Given the description of an element on the screen output the (x, y) to click on. 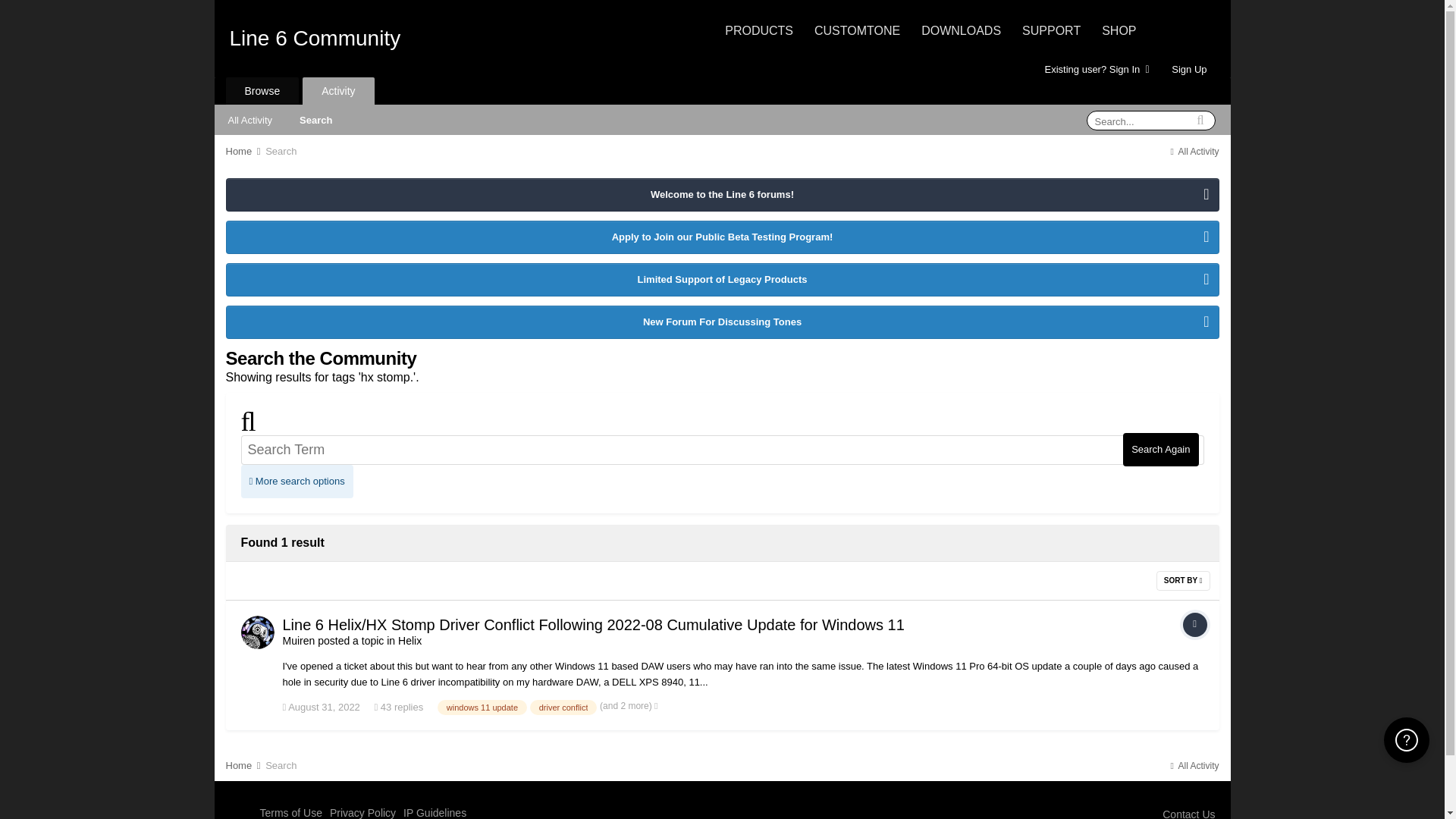
Go to Muiren's profile (258, 632)
PRODUCTS (759, 30)
SHOP (1118, 30)
Line 6 Community (314, 37)
All Activity (249, 118)
Search (280, 151)
Sign Up (1188, 68)
Home (244, 151)
Downloads (961, 30)
All Activity (1192, 151)
